Given the description of an element on the screen output the (x, y) to click on. 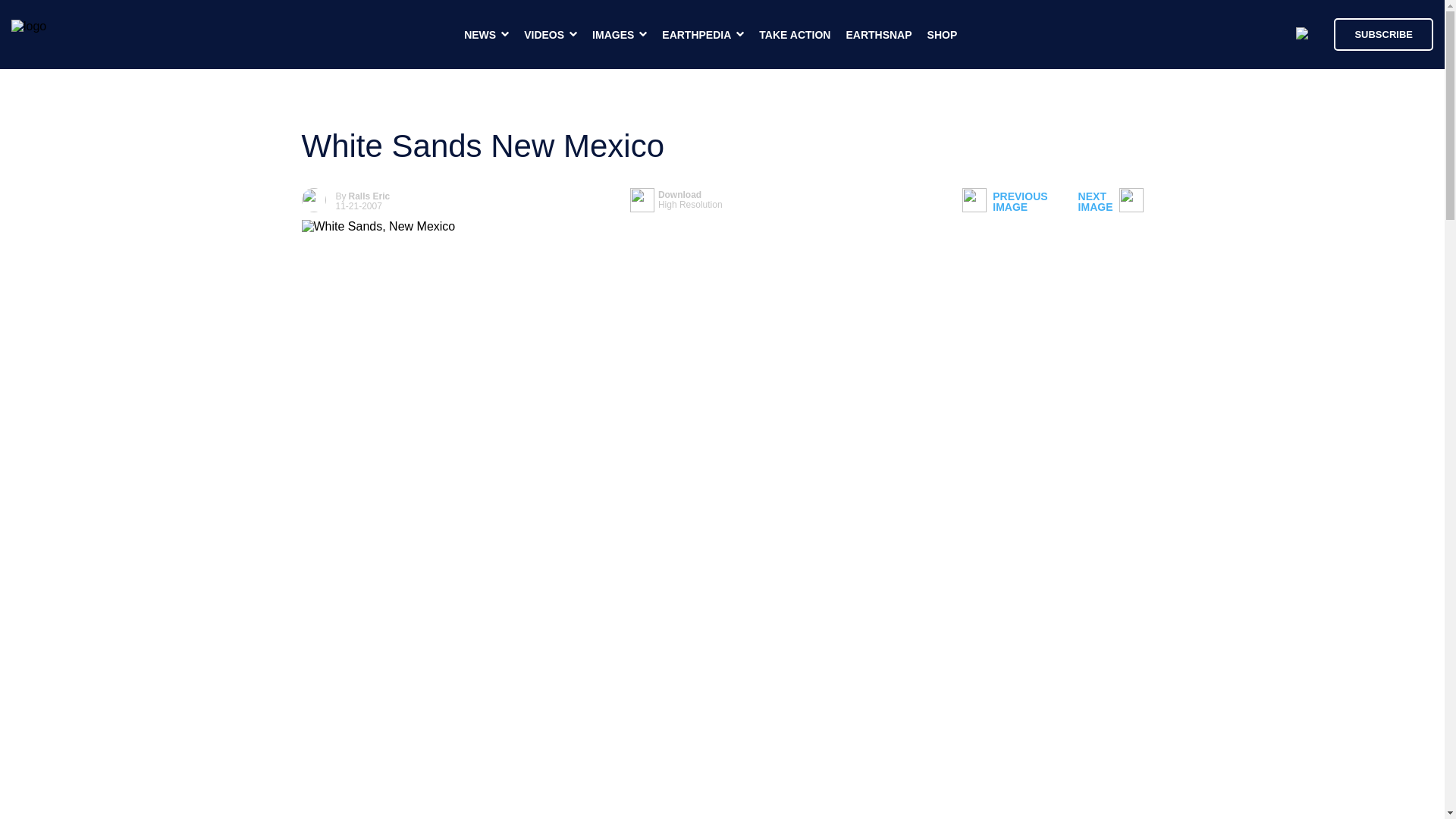
TAKE ACTION (1110, 201)
Ralls Eric (793, 34)
SHOP (369, 195)
EARTHSNAP (1004, 201)
SUBSCRIBE (676, 200)
